Given the description of an element on the screen output the (x, y) to click on. 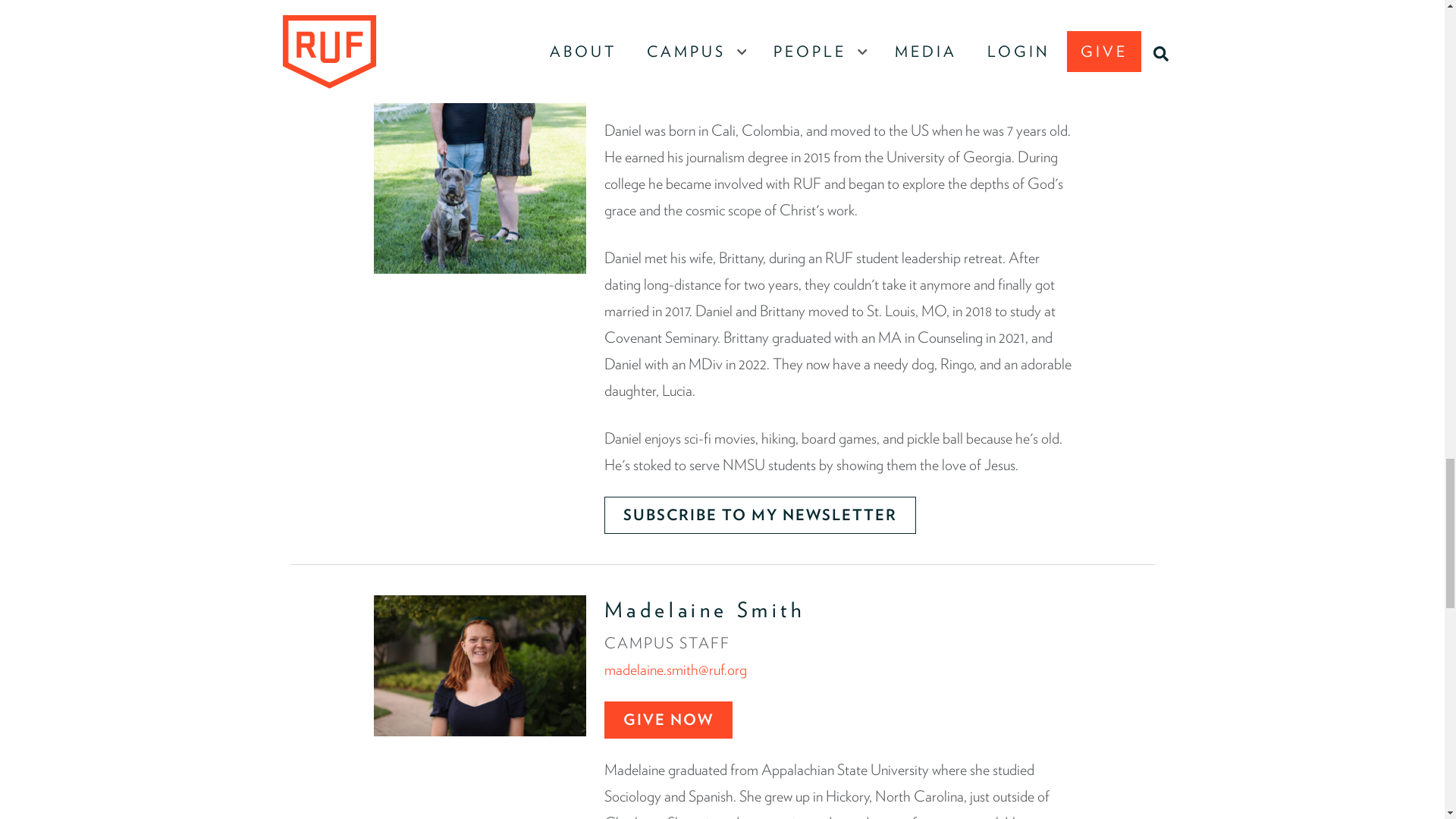
GIVE NOW (668, 80)
GIVE NOW (668, 719)
SUBSCRIBE TO MY NEWSLETTER (759, 514)
